Given the description of an element on the screen output the (x, y) to click on. 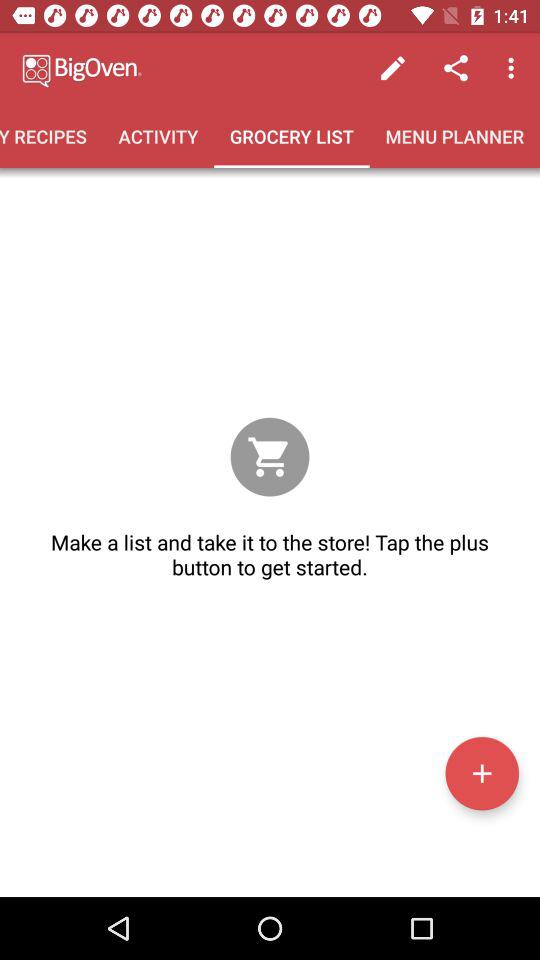
choose the item at the bottom right corner (482, 773)
